Given the description of an element on the screen output the (x, y) to click on. 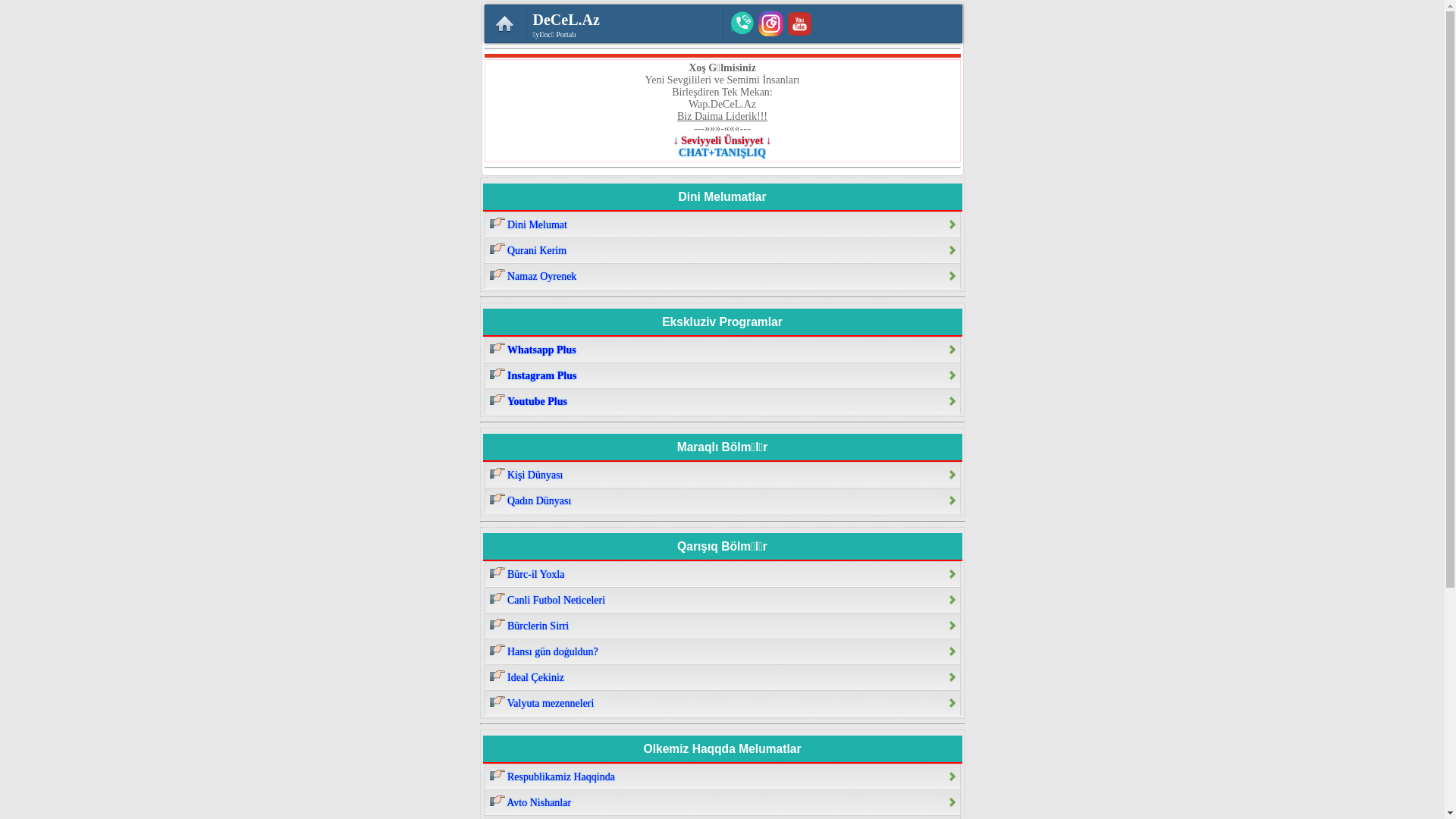
Namaz Oyrenek Element type: text (721, 275)
Dini Melumat Element type: text (721, 224)
Instagram Plus Element type: text (721, 375)
Valyuta mezenneleri Element type: text (721, 702)
Qurani Kerim Element type: text (721, 250)
Respublikamiz Haqqinda Element type: text (721, 776)
Whatsapp Plus Element type: text (721, 349)
Canli Futbol Neticeleri Element type: text (721, 599)
Youtube Plus Element type: text (721, 401)
Avto Nishanlar Element type: text (721, 802)
